Given the description of an element on the screen output the (x, y) to click on. 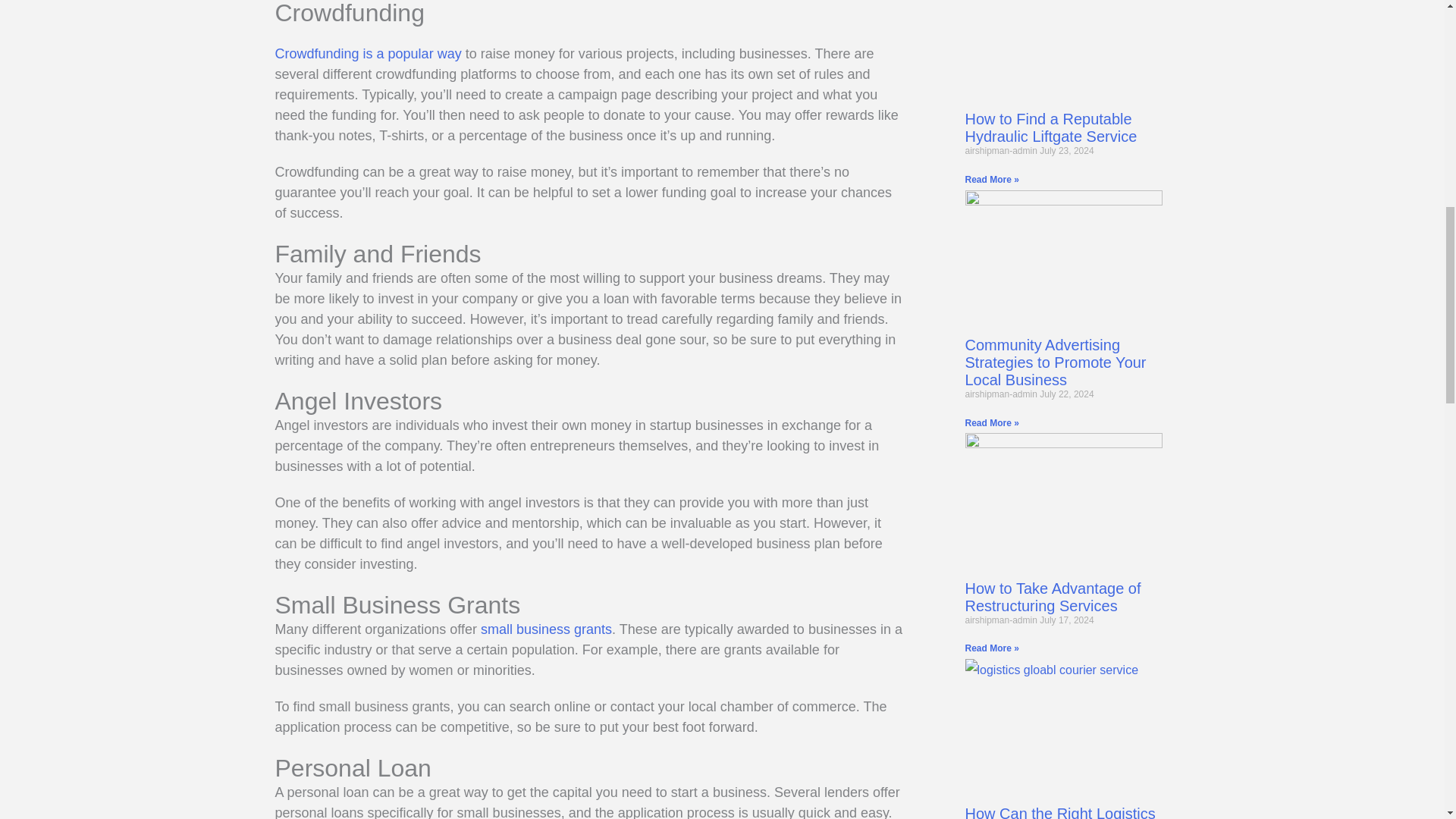
How to Find a Reputable Hydraulic Liftgate Service (1050, 127)
How to Take Advantage of Restructuring Services (1051, 596)
Crowdfunding is a popular way (368, 53)
small business grants (545, 629)
